Given the description of an element on the screen output the (x, y) to click on. 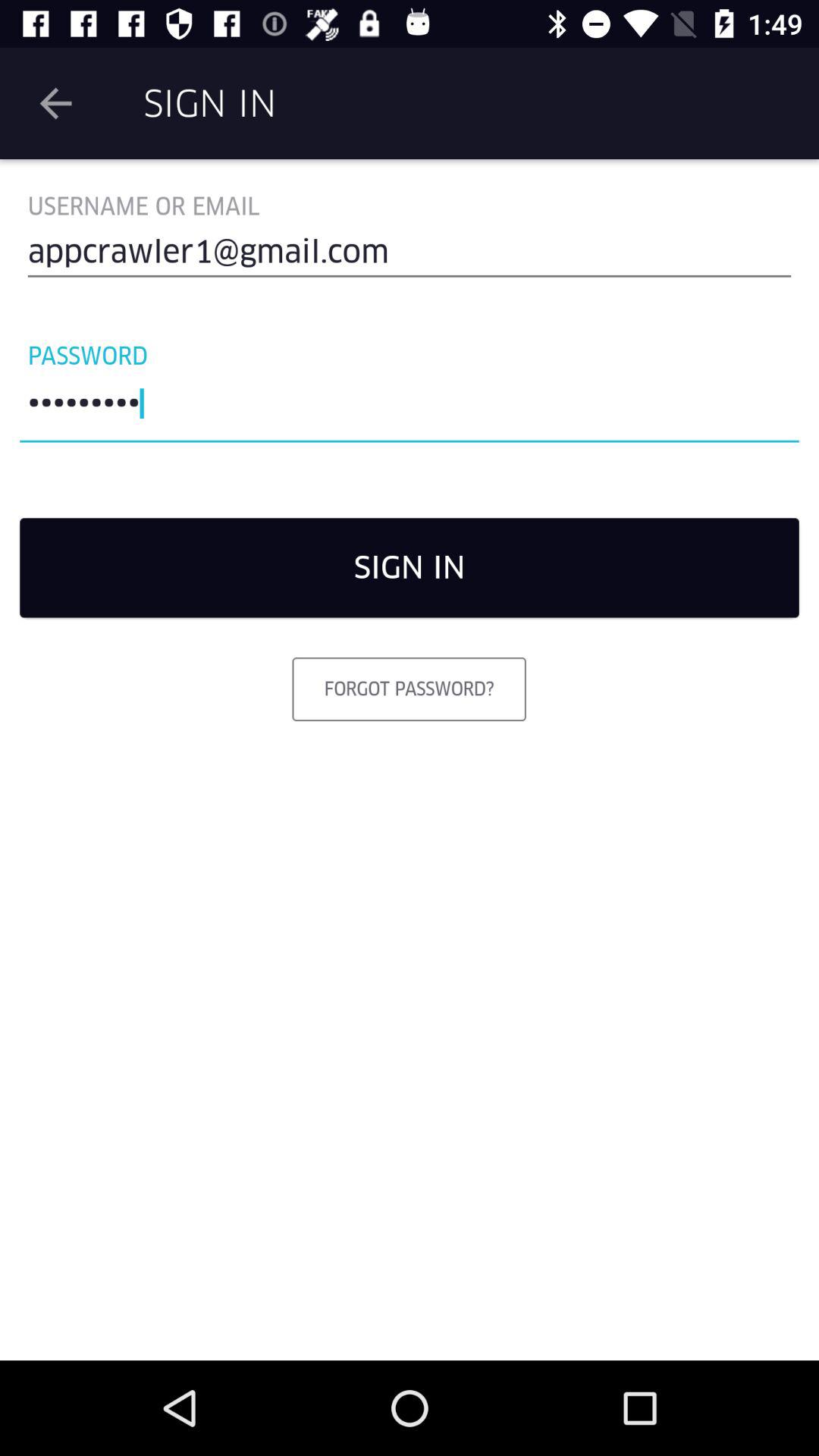
open crowd3116 item (409, 407)
